Given the description of an element on the screen output the (x, y) to click on. 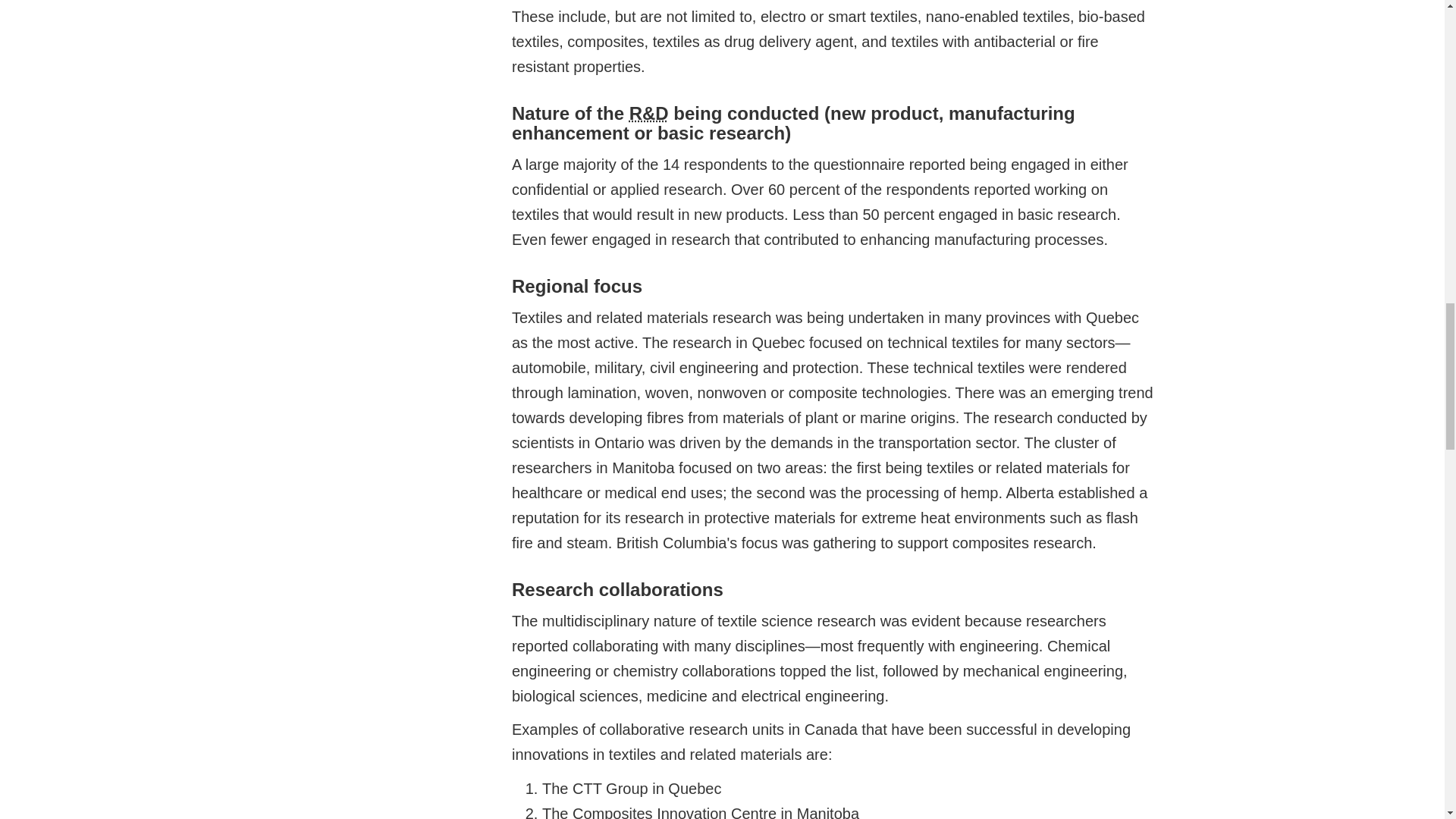
research and development (648, 113)
